Given the description of an element on the screen output the (x, y) to click on. 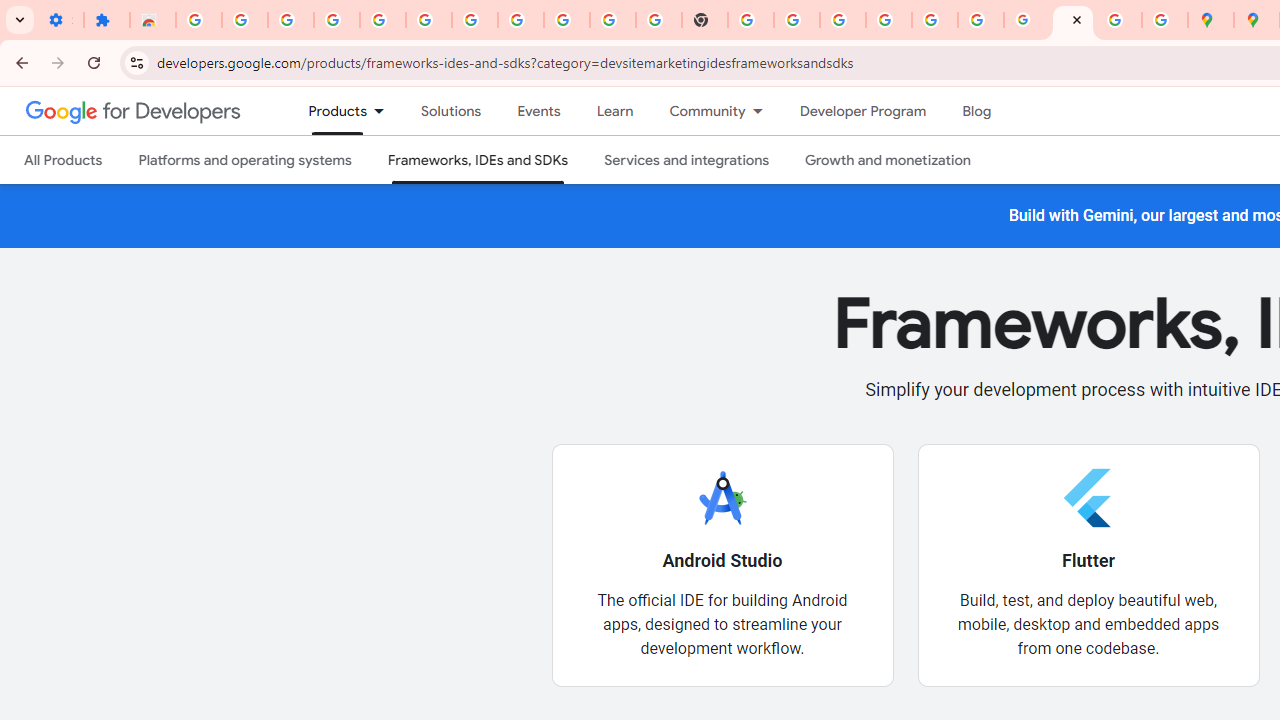
All Products (63, 160)
Flutter logo (1088, 497)
Dropdown menu for Products (385, 111)
